Given the description of an element on the screen output the (x, y) to click on. 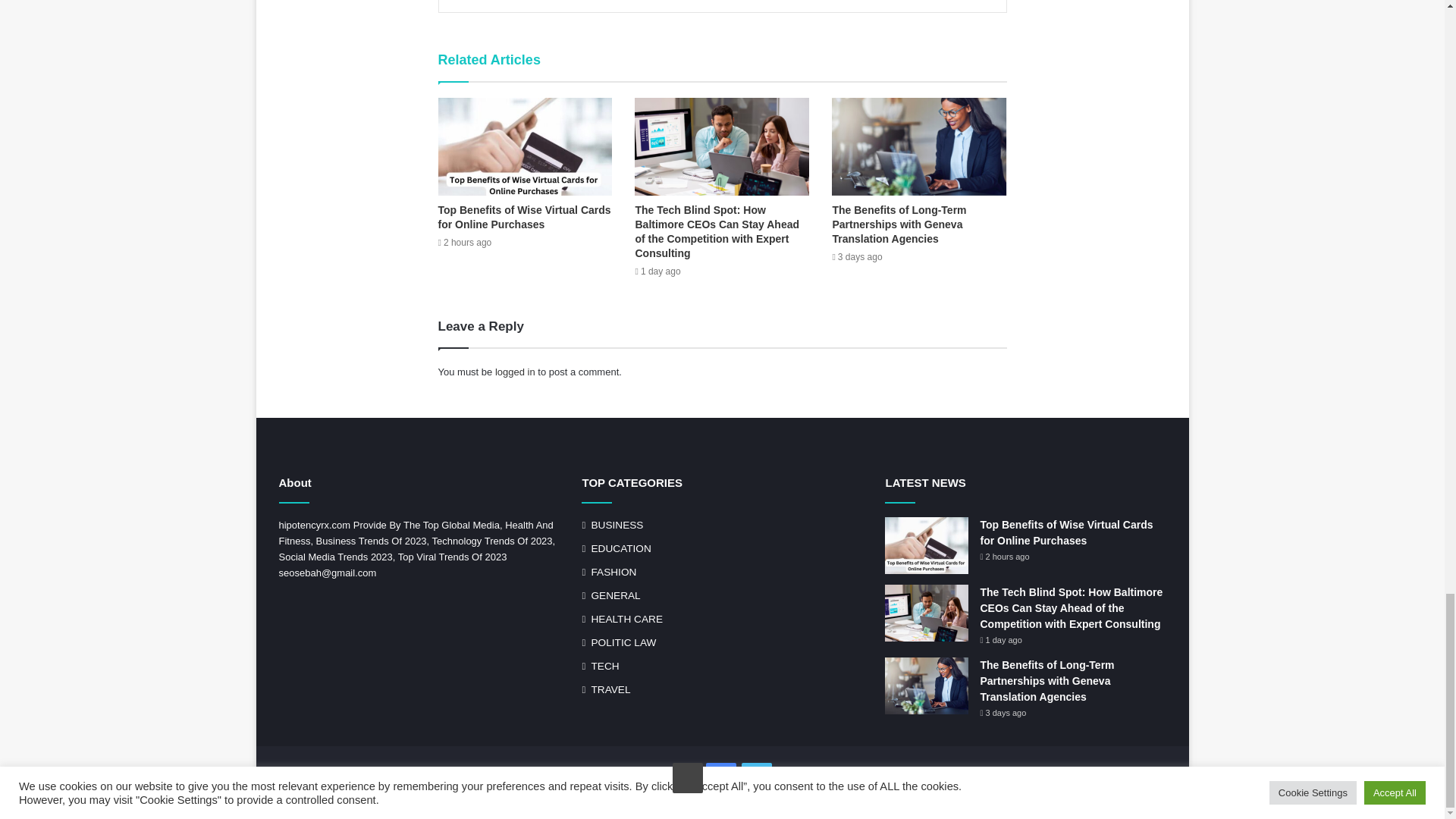
Top Benefits of Wise Virtual Cards for Online Purchases (524, 216)
Facebook (721, 777)
